Given the description of an element on the screen output the (x, y) to click on. 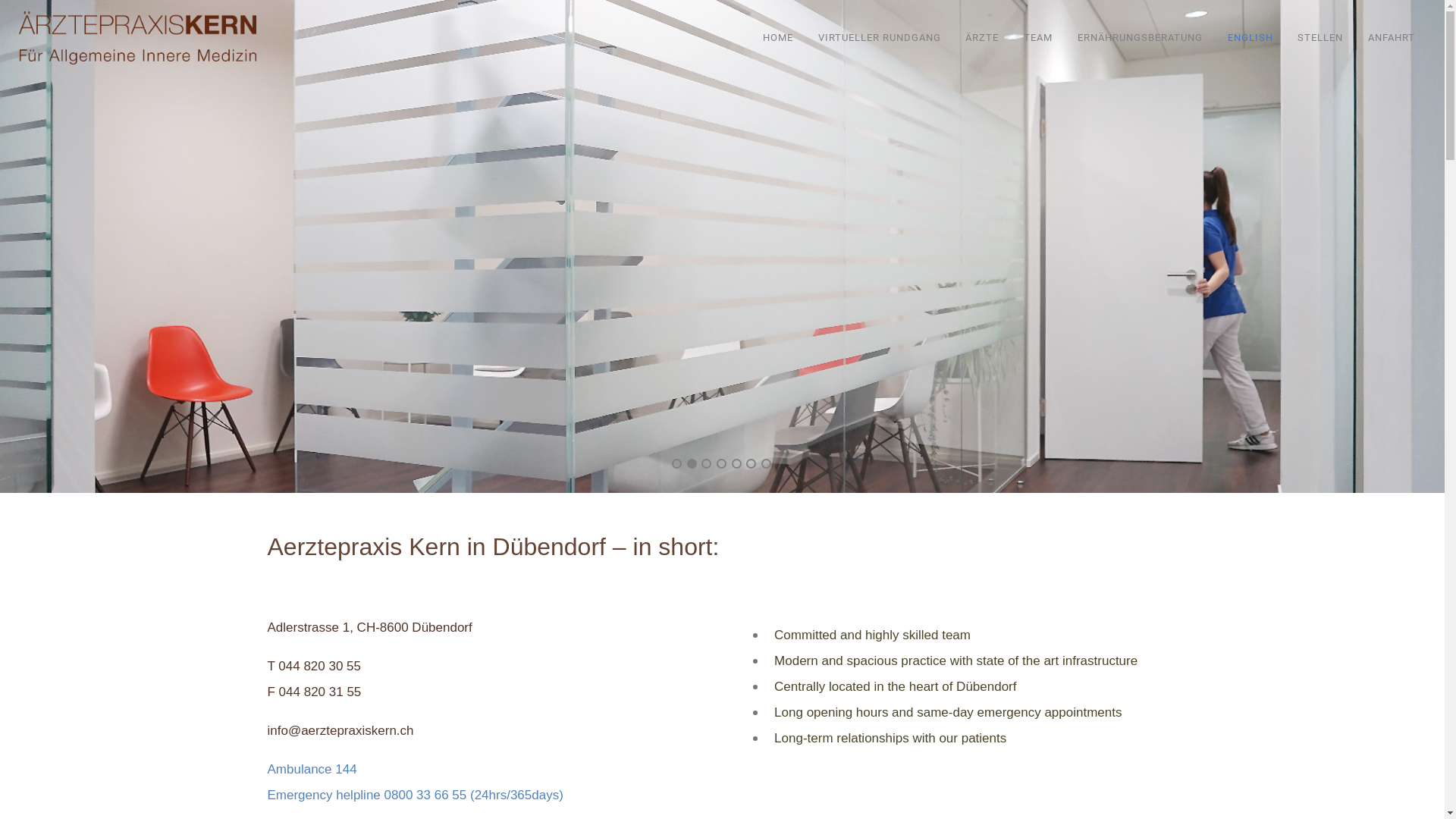
ANFAHRT Element type: text (1391, 37)
3 Element type: text (706, 463)
6 Element type: text (751, 463)
2 Element type: text (691, 463)
VIRTUELLER RUNDGANG Element type: text (879, 37)
7 Element type: text (766, 463)
HOME Element type: text (782, 37)
ENGLISH Element type: text (1250, 37)
TEAM Element type: text (1038, 37)
STELLEN Element type: text (1319, 37)
4 Element type: text (721, 463)
1 Element type: text (676, 463)
5 Element type: text (736, 463)
